Given the description of an element on the screen output the (x, y) to click on. 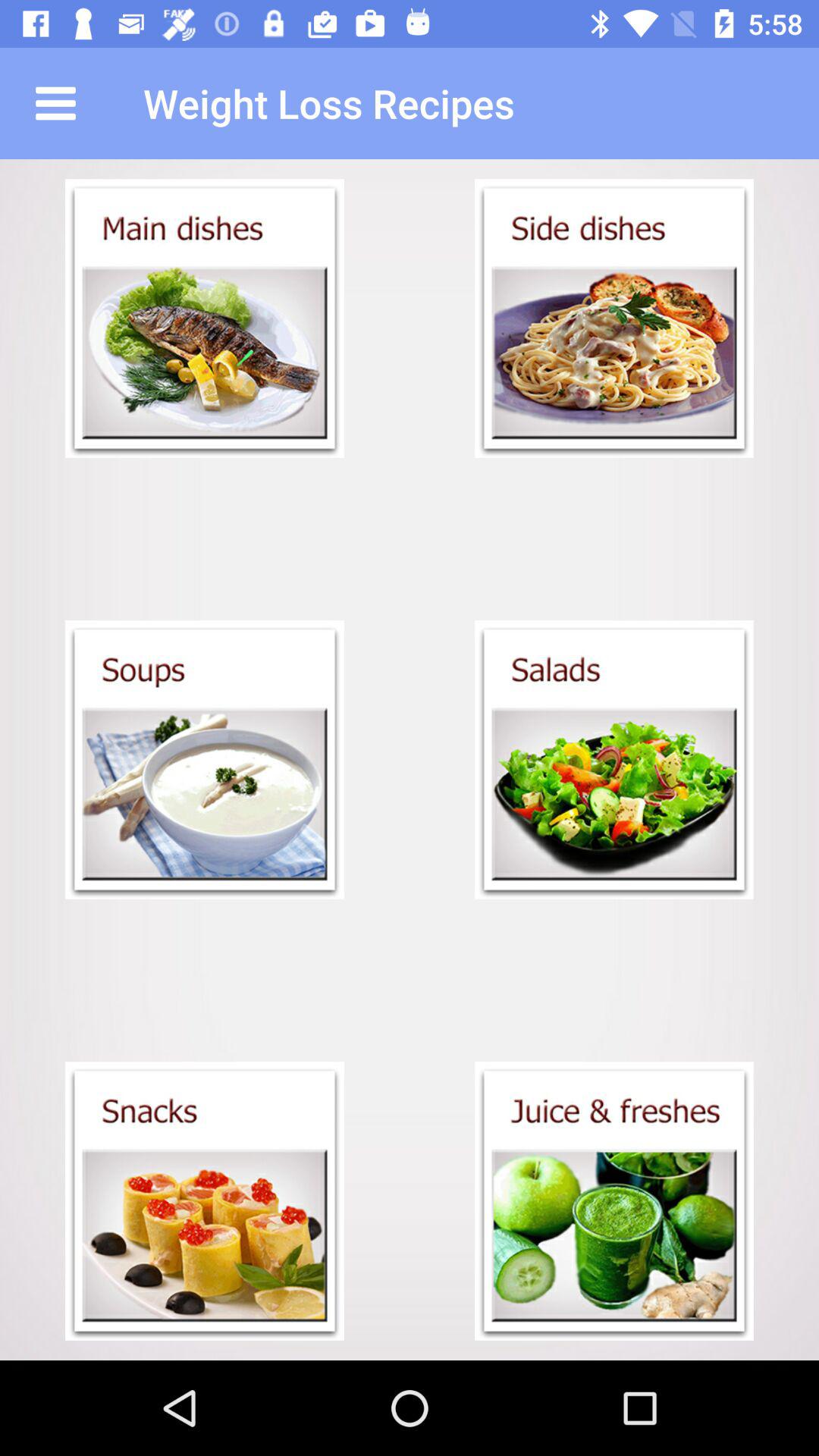
click icon at the bottom left corner (204, 1200)
